Given the description of an element on the screen output the (x, y) to click on. 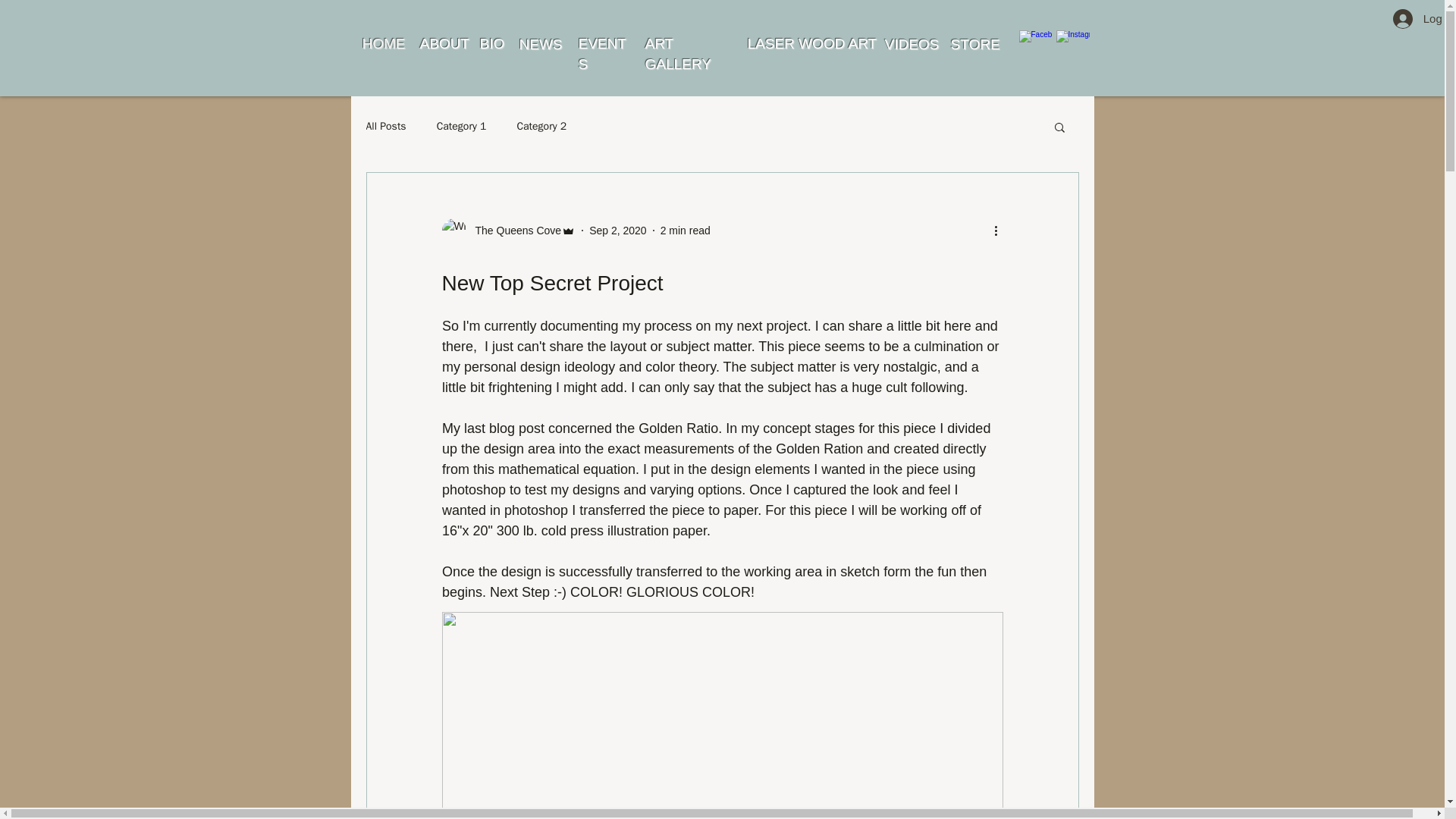
LASER WOOD ART (812, 43)
Sep 2, 2020 (617, 230)
The Queens Cove (508, 230)
ABOUT (444, 43)
Category 2 (541, 126)
BIO (491, 43)
ART GALLERY (677, 54)
The Queens Cove (512, 230)
STORE (975, 44)
NEWS (540, 44)
HOME  (385, 43)
VIDEOS (911, 44)
EVENTS (602, 54)
All Posts (385, 126)
Category 1 (461, 126)
